Given the description of an element on the screen output the (x, y) to click on. 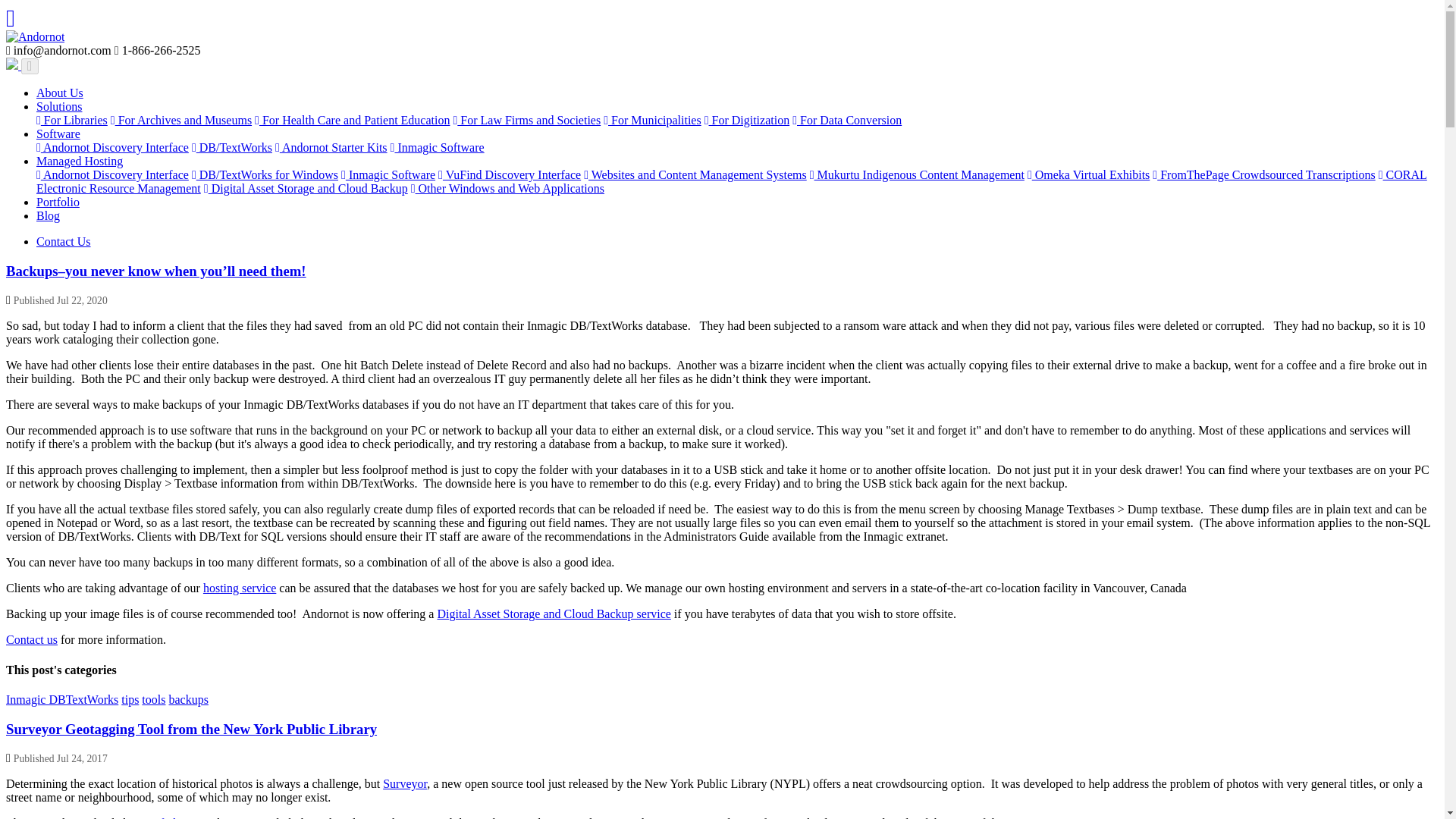
Portfolio (58, 201)
Omeka Virtual Exhibits (1088, 174)
For Municipalities (652, 119)
Contact us (31, 639)
For Digitization (747, 119)
About Us (59, 92)
For Law Firms and Societies (525, 119)
Inmagic Software (387, 174)
Digital Asset Storage and Cloud Backup service (552, 613)
Inmagic Software (437, 146)
